Given the description of an element on the screen output the (x, y) to click on. 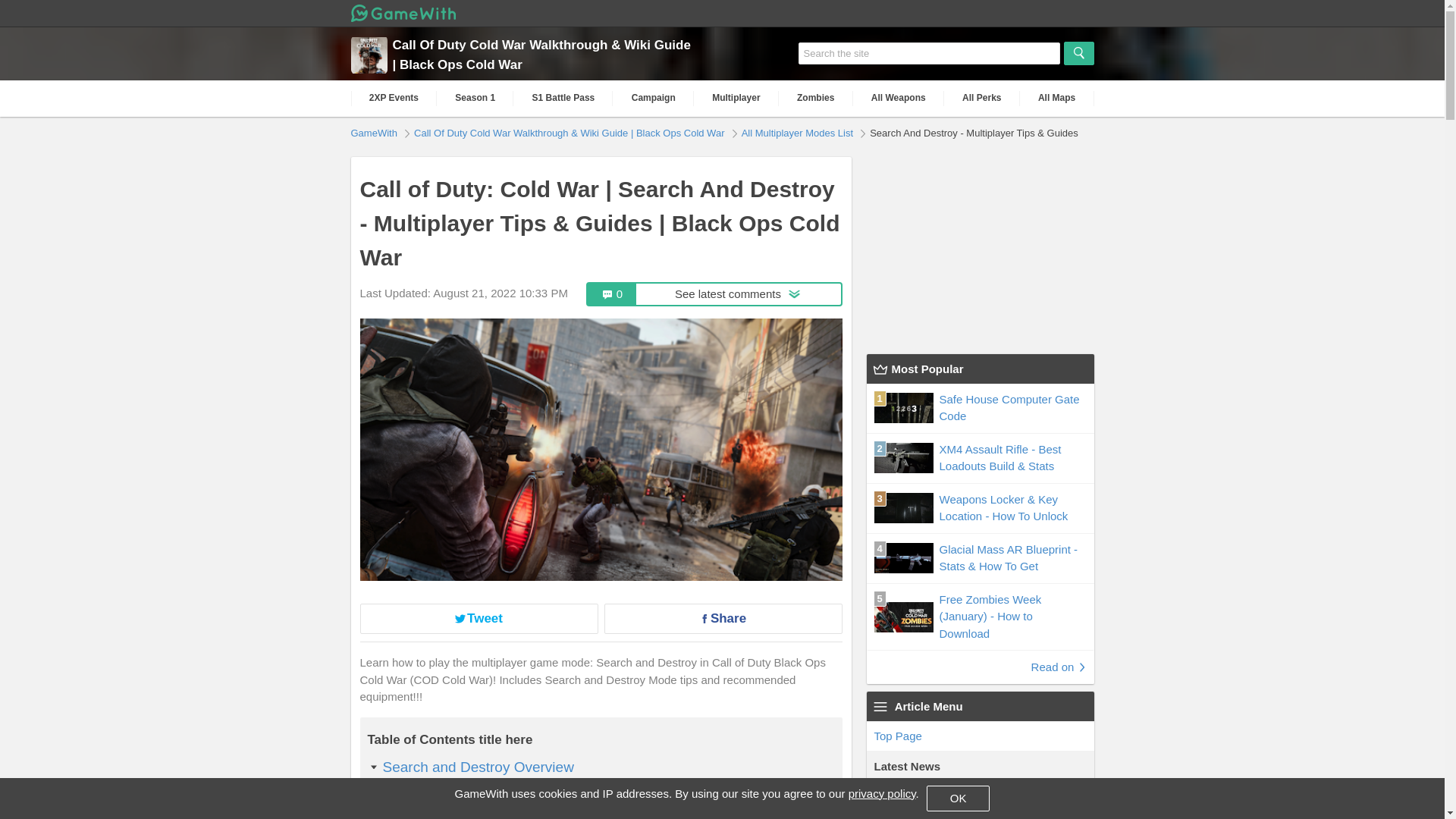
privacy policy (881, 793)
Zombies (815, 98)
S1 Battle Pass (562, 98)
Season 1 (474, 98)
Recommended Weapons (462, 816)
All Maps (1057, 98)
Search and Destroy Overview (477, 766)
Tweet (477, 618)
Share (722, 618)
GameWith (375, 132)
Multiplayer (736, 98)
Search and Destroy - Gameplay Tips (499, 795)
2XP Events (393, 98)
All Weapons (898, 98)
All Multiplayer Modes List (799, 132)
